Given the description of an element on the screen output the (x, y) to click on. 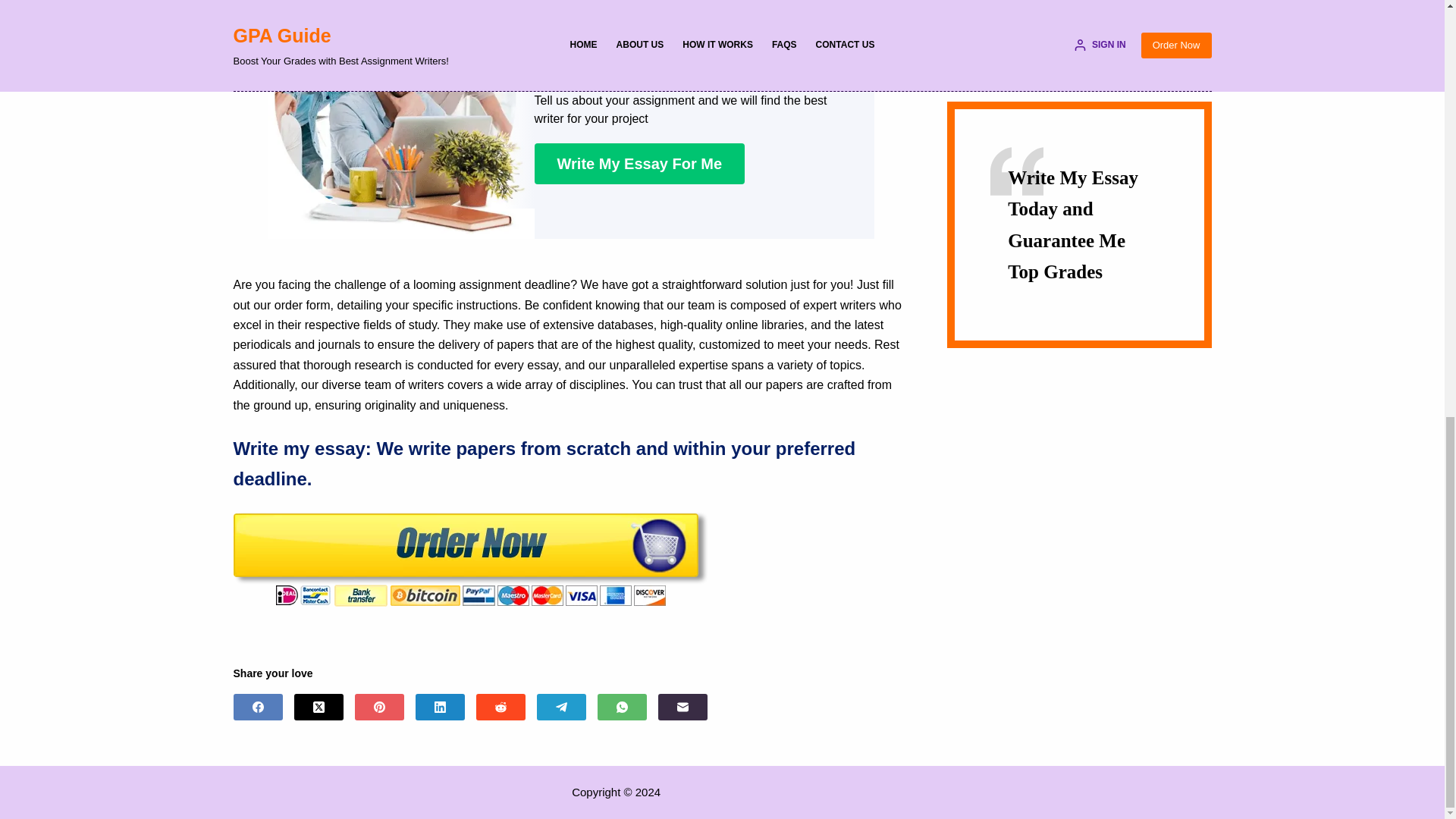
Write My Essay For Me (639, 163)
